Given the description of an element on the screen output the (x, y) to click on. 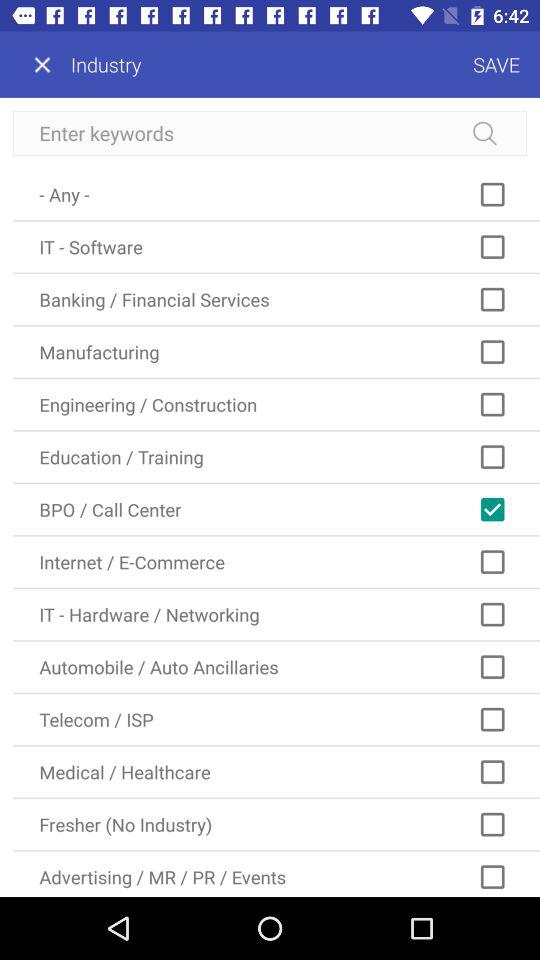
scroll until the it - software icon (276, 246)
